Given the description of an element on the screen output the (x, y) to click on. 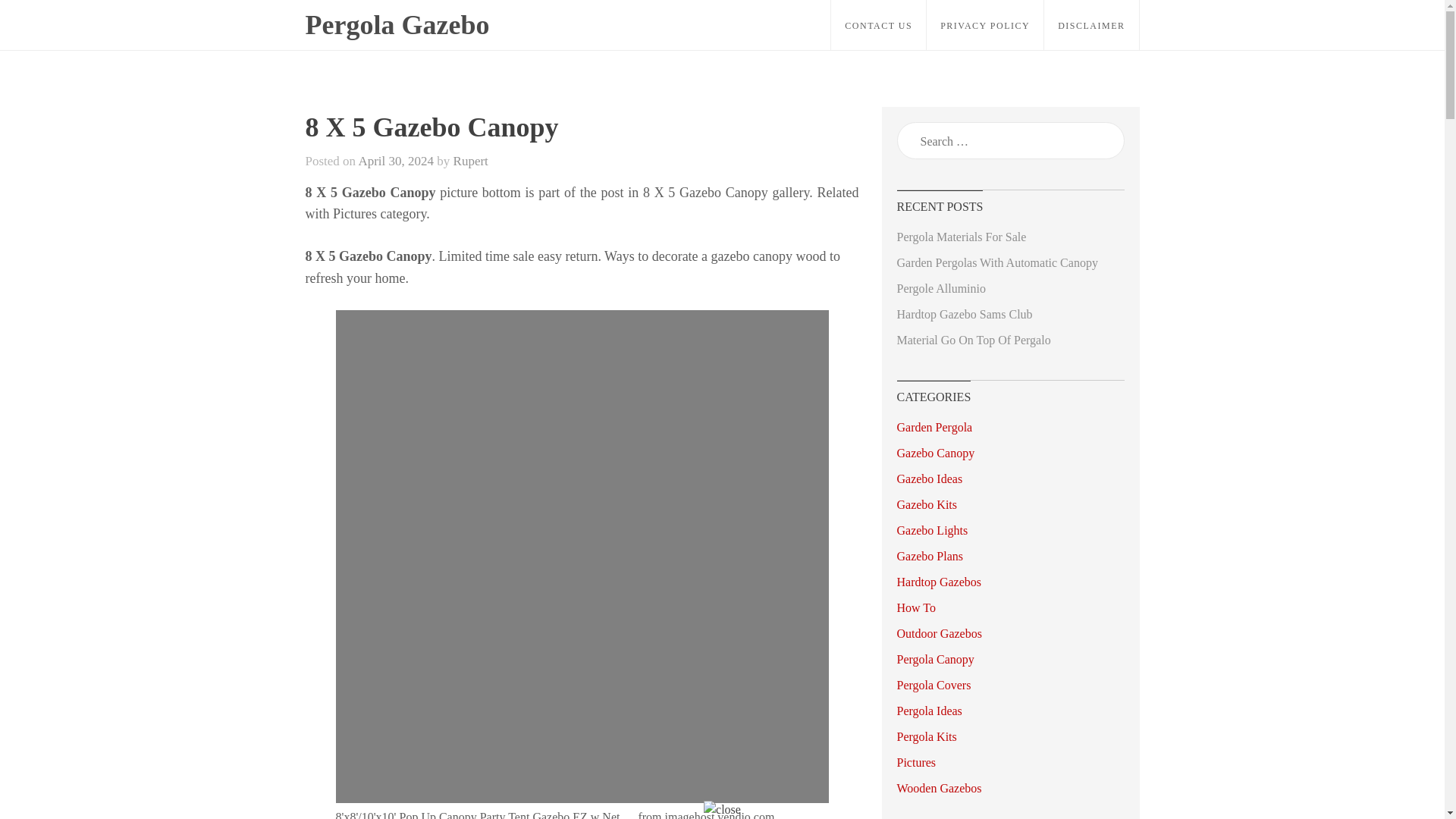
Hardtop Gazebo Sams Club (964, 314)
Search (32, 18)
Material Go On Top Of Pergalo (972, 339)
Garden Pergola (934, 427)
close button (722, 809)
Pergola Covers (933, 684)
Gazebo Canopy (935, 452)
Pergola Materials For Sale (961, 236)
Rupert (469, 160)
Hardtop Gazebos (938, 581)
